Given the description of an element on the screen output the (x, y) to click on. 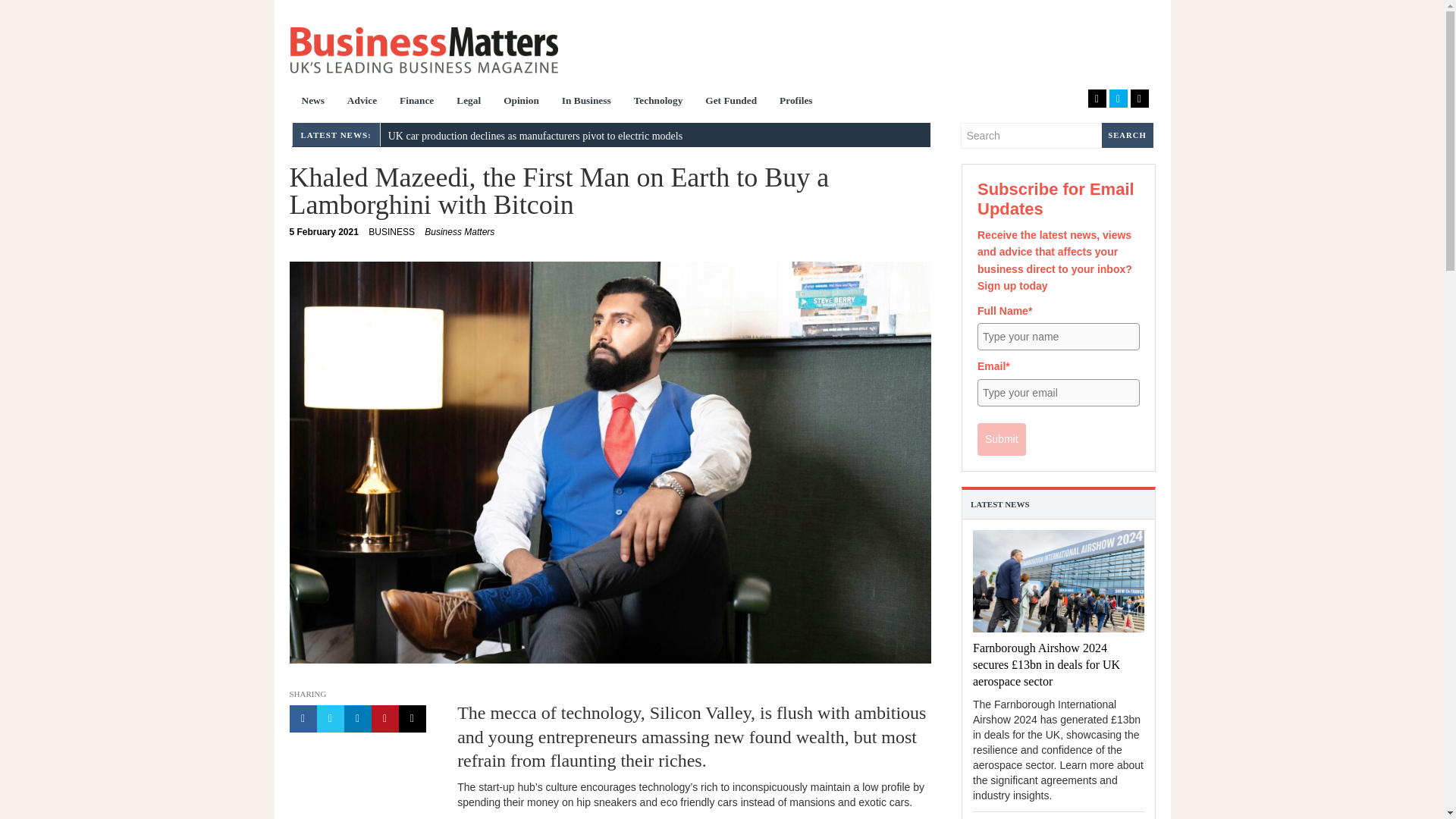
Business Matters (460, 231)
Finance (416, 101)
In Business (586, 101)
Technology (658, 101)
Legal (468, 101)
Get Funded (323, 231)
Opinion (731, 101)
Advice (521, 101)
Business Matters (362, 101)
News (423, 50)
BUSINESS (311, 101)
Profiles (391, 231)
